Given the description of an element on the screen output the (x, y) to click on. 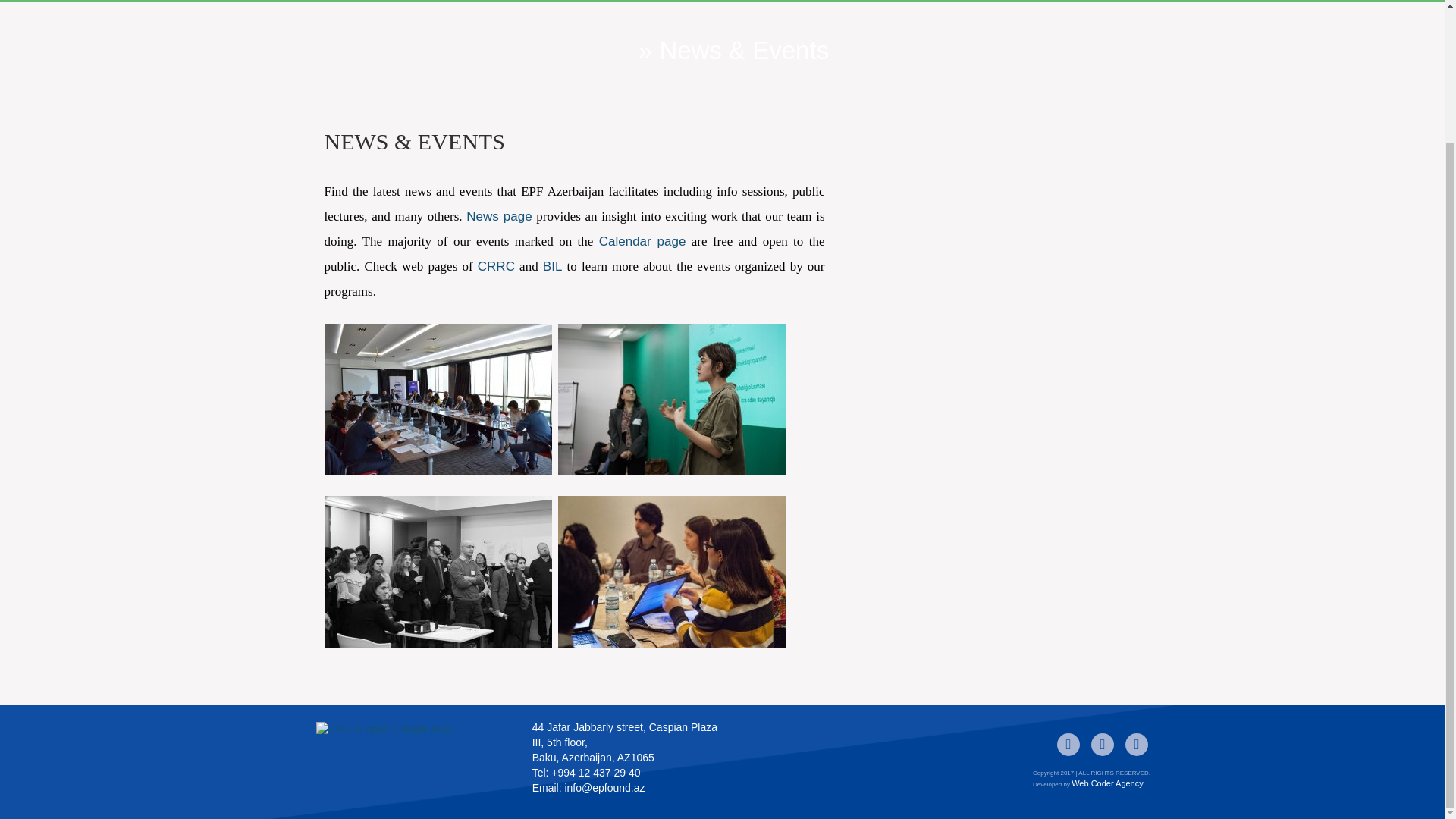
Click to open a larger map (410, 757)
